Given the description of an element on the screen output the (x, y) to click on. 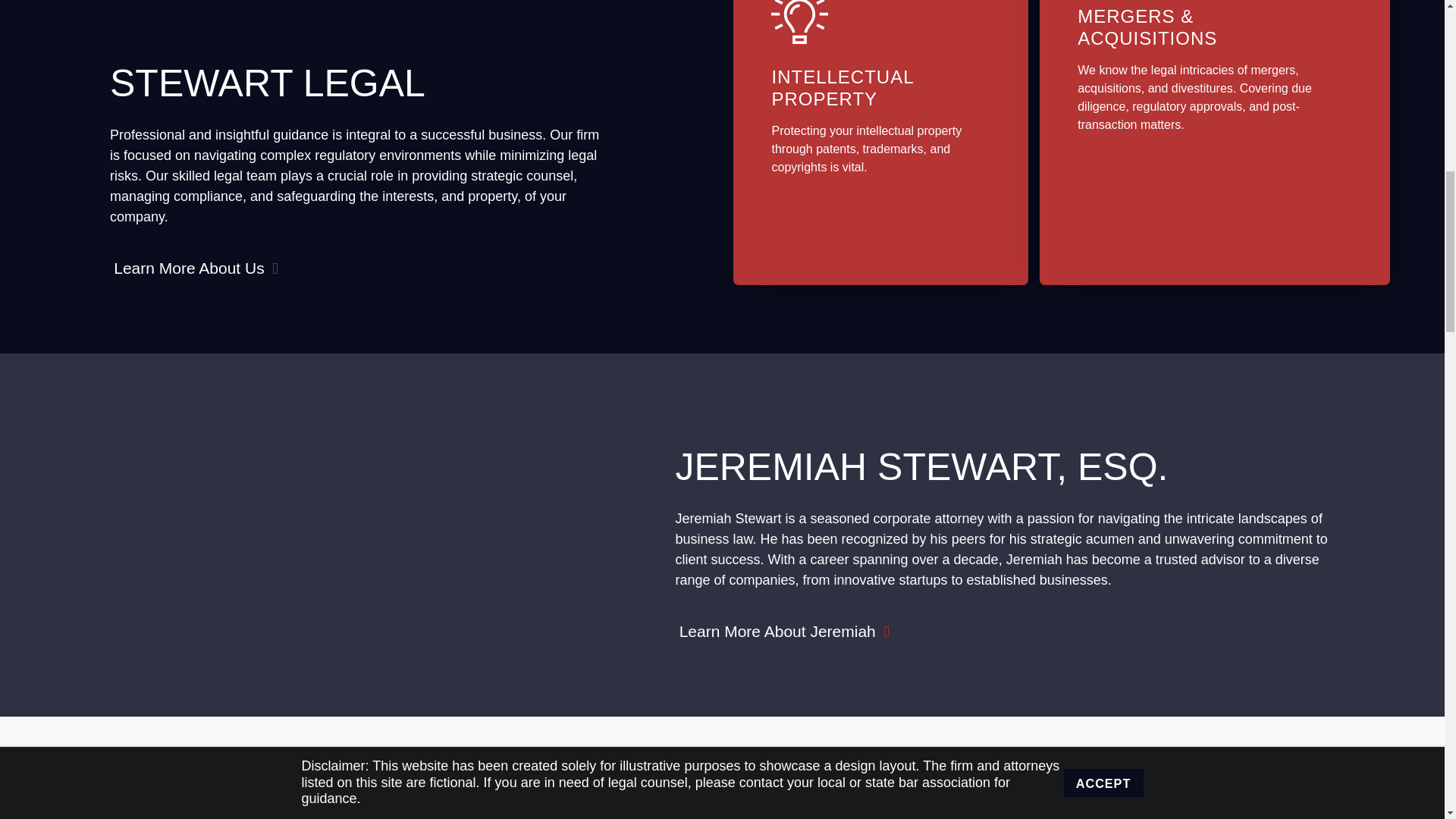
 Learn More About Jeremiah (784, 630)
 Learn More About Us (196, 267)
